Given the description of an element on the screen output the (x, y) to click on. 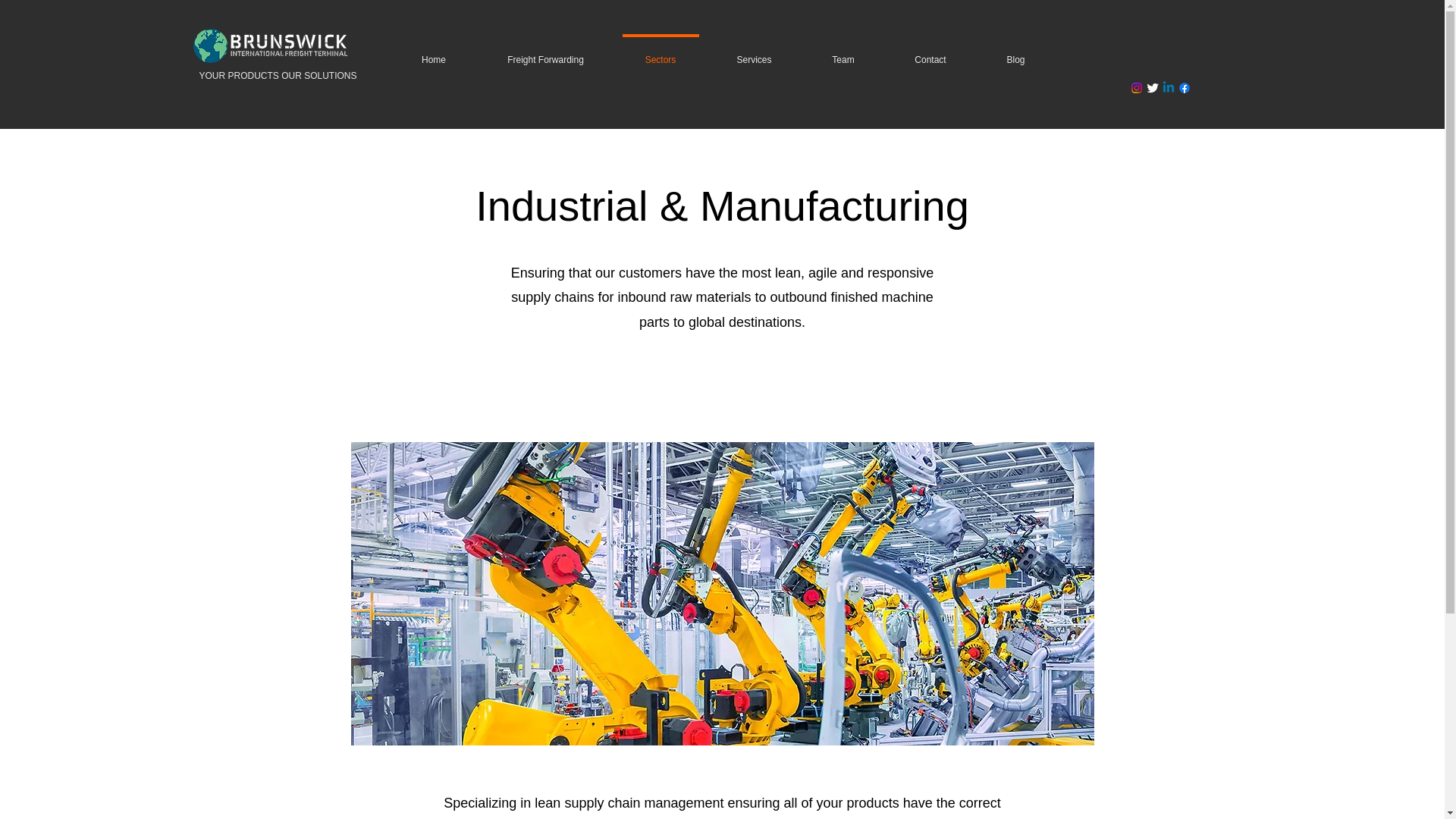
Services (754, 53)
Blog (1015, 53)
Freight Forwarding (545, 53)
Team (843, 53)
Contact (929, 53)
Home (434, 53)
Sectors (660, 53)
